Given the description of an element on the screen output the (x, y) to click on. 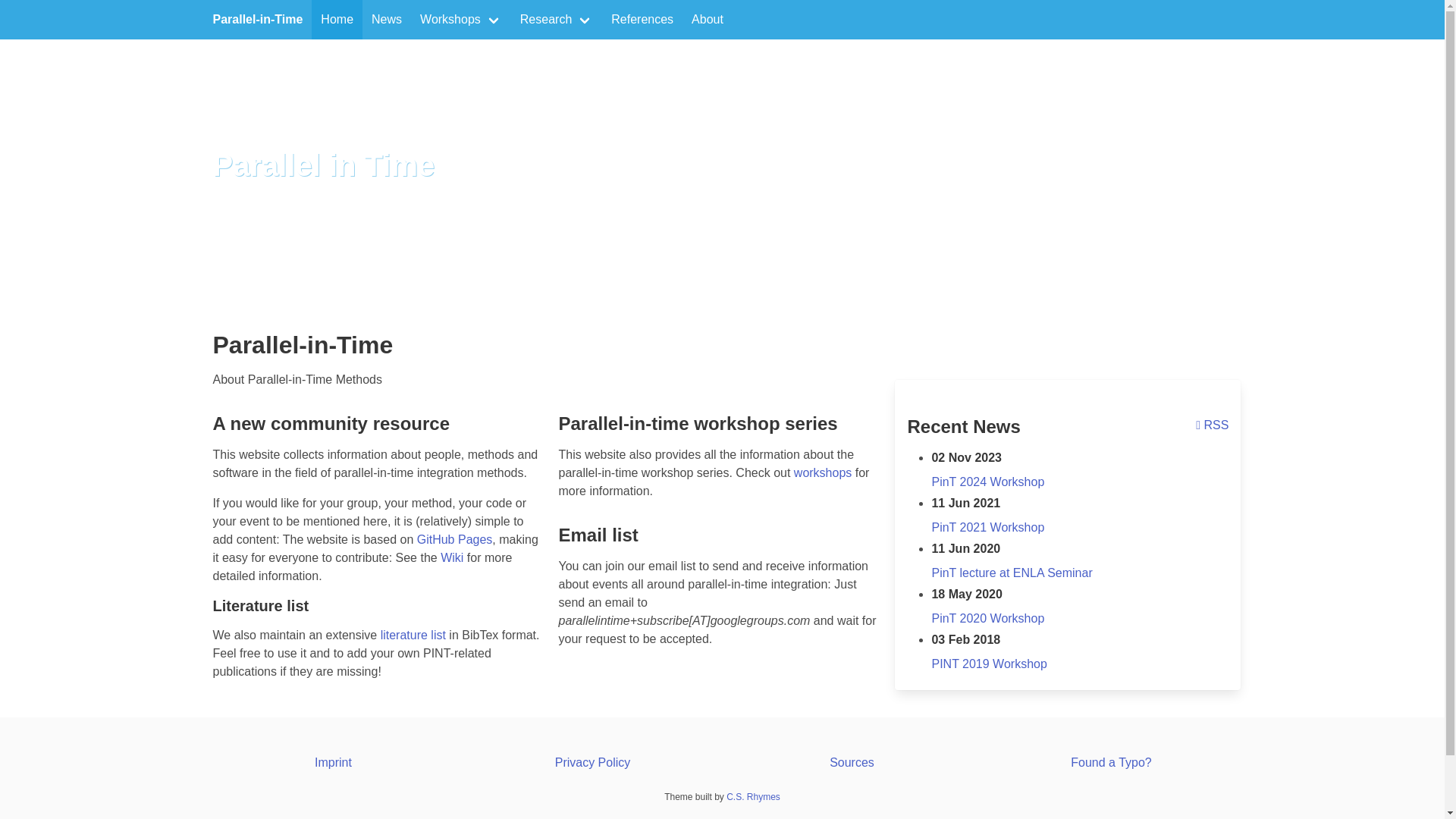
About (707, 19)
Home (336, 19)
Found a Typo? (1110, 762)
PinT lecture at ENLA Seminar (1011, 572)
Imprint (333, 762)
References (642, 19)
literature list (412, 634)
PinT 2021 Workshop (987, 526)
RSS (1211, 425)
PinT 2020 Workshop (987, 617)
